Given the description of an element on the screen output the (x, y) to click on. 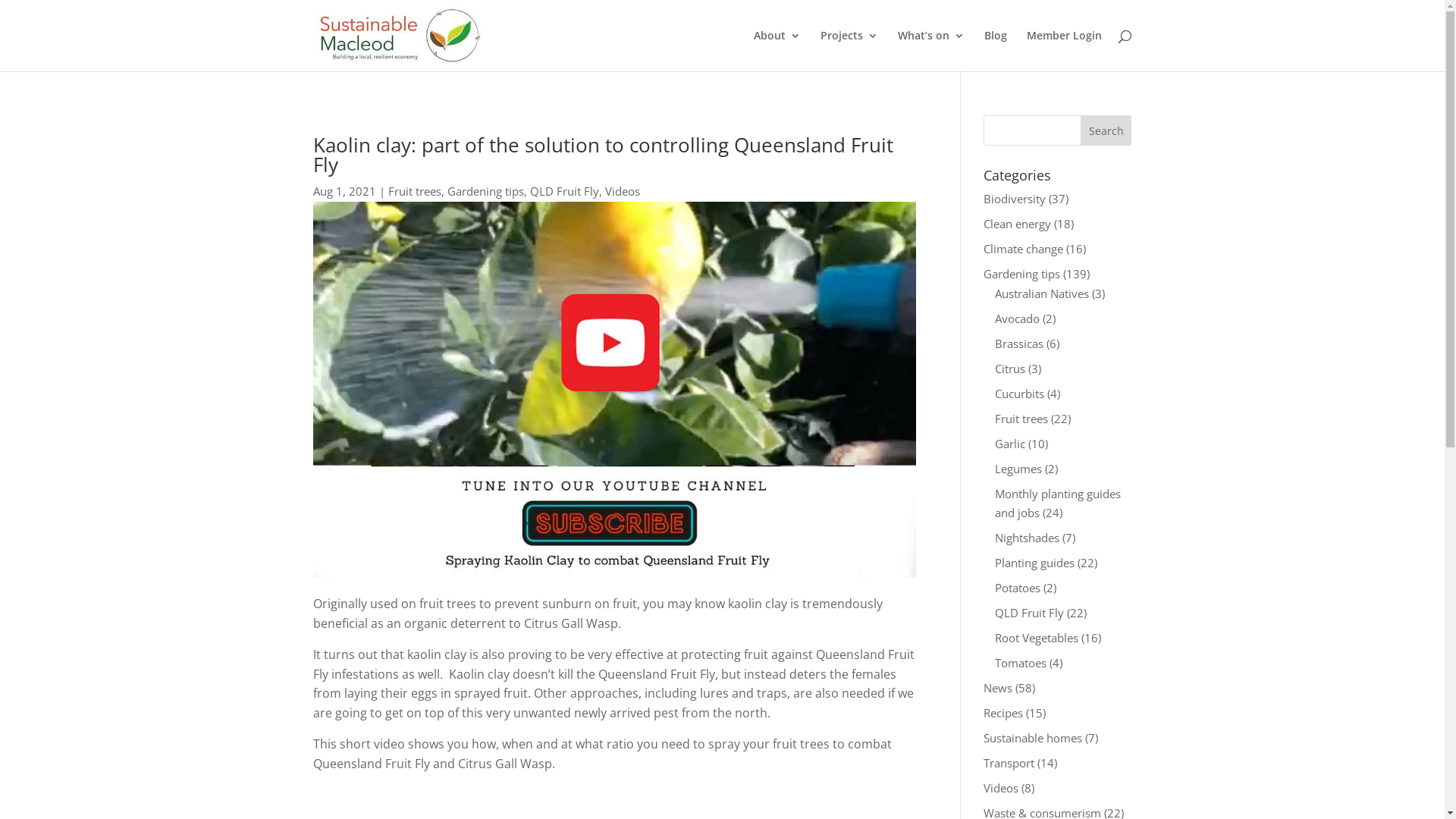
Avocado Element type: text (1016, 318)
Tomatoes Element type: text (1020, 662)
Clean energy Element type: text (1017, 223)
Transport Element type: text (1008, 762)
QLD Fruit Fly Element type: text (563, 190)
Legumes Element type: text (1017, 468)
Biodiversity Element type: text (1014, 198)
Garlic Element type: text (1009, 442)
kaolin-clay-video-blog-post Element type: hover (613, 389)
Gardening tips Element type: text (485, 190)
Videos Element type: text (1000, 787)
Monthly planting guides and jobs Element type: text (1057, 502)
Search Element type: text (1106, 130)
About Element type: text (776, 50)
Australian Natives Element type: text (1041, 292)
Videos Element type: text (622, 190)
Potatoes Element type: text (1017, 587)
Climate change Element type: text (1023, 248)
Citrus Element type: text (1009, 368)
Planting guides Element type: text (1034, 562)
Blog Element type: text (995, 50)
Projects Element type: text (849, 50)
Member Login Element type: text (1063, 50)
Gardening tips Element type: text (1021, 273)
QLD Fruit Fly Element type: text (1028, 612)
Fruit trees Element type: text (414, 190)
Root Vegetables Element type: text (1036, 637)
Cucurbits Element type: text (1019, 392)
Brassicas Element type: text (1018, 342)
Recipes Element type: text (1002, 712)
Sustainable homes Element type: text (1032, 737)
Fruit trees Element type: text (1021, 418)
News Element type: text (997, 687)
Nightshades Element type: text (1026, 537)
